Given the description of an element on the screen output the (x, y) to click on. 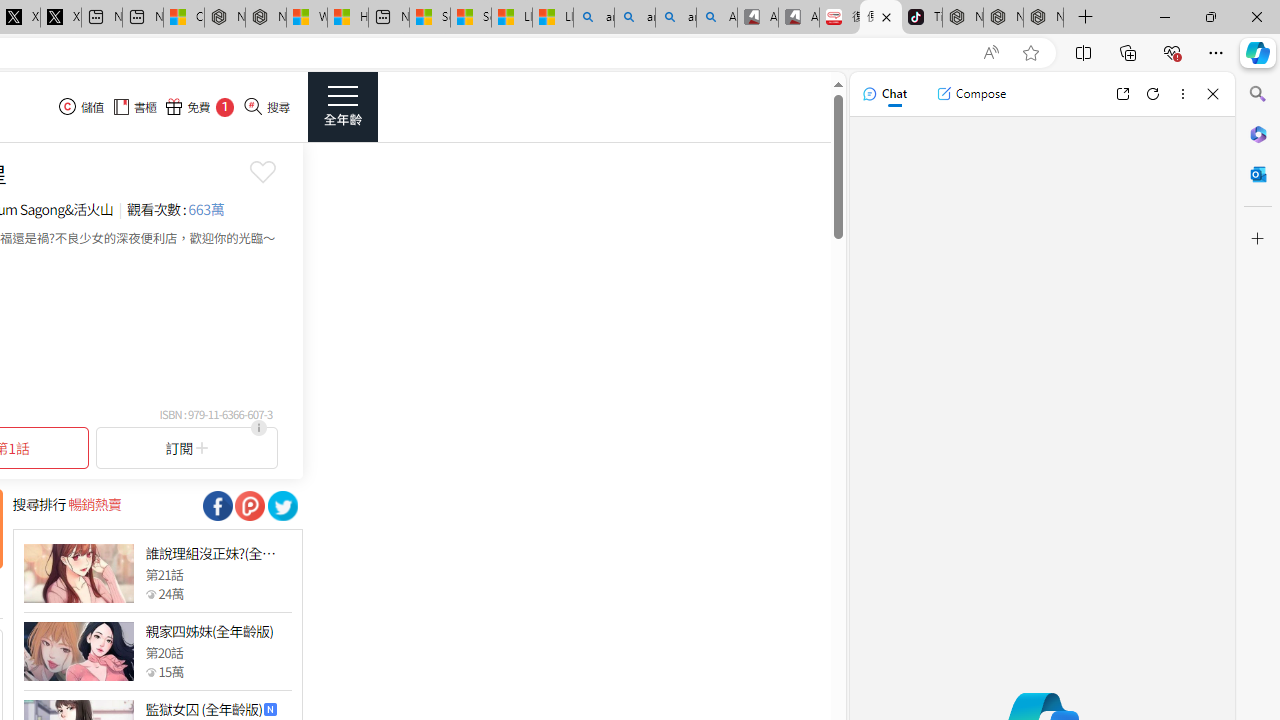
Compose (971, 93)
Class: socialShare (282, 506)
Open link in new tab (1122, 93)
